Given the description of an element on the screen output the (x, y) to click on. 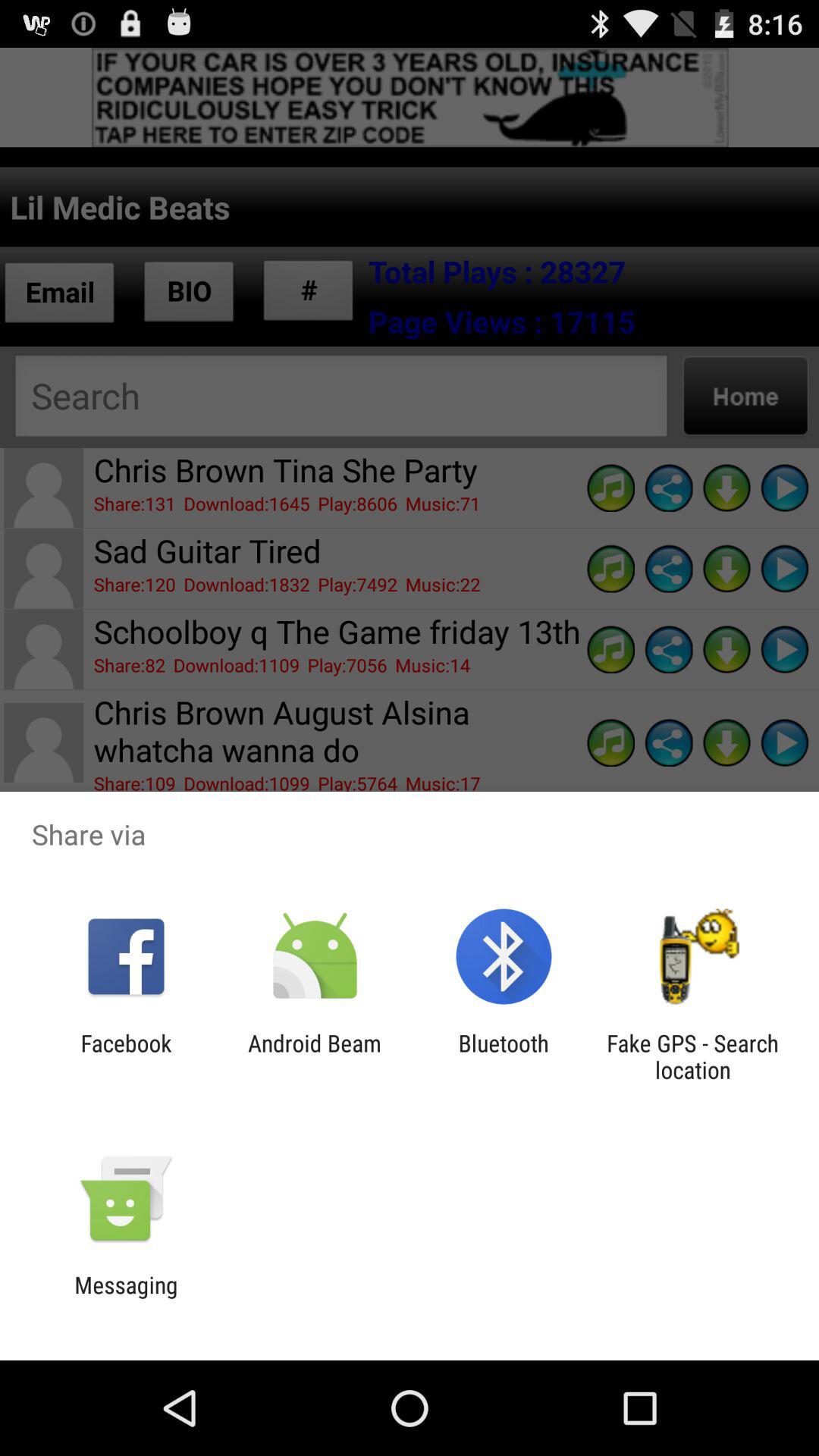
press the item to the right of bluetooth item (692, 1056)
